Given the description of an element on the screen output the (x, y) to click on. 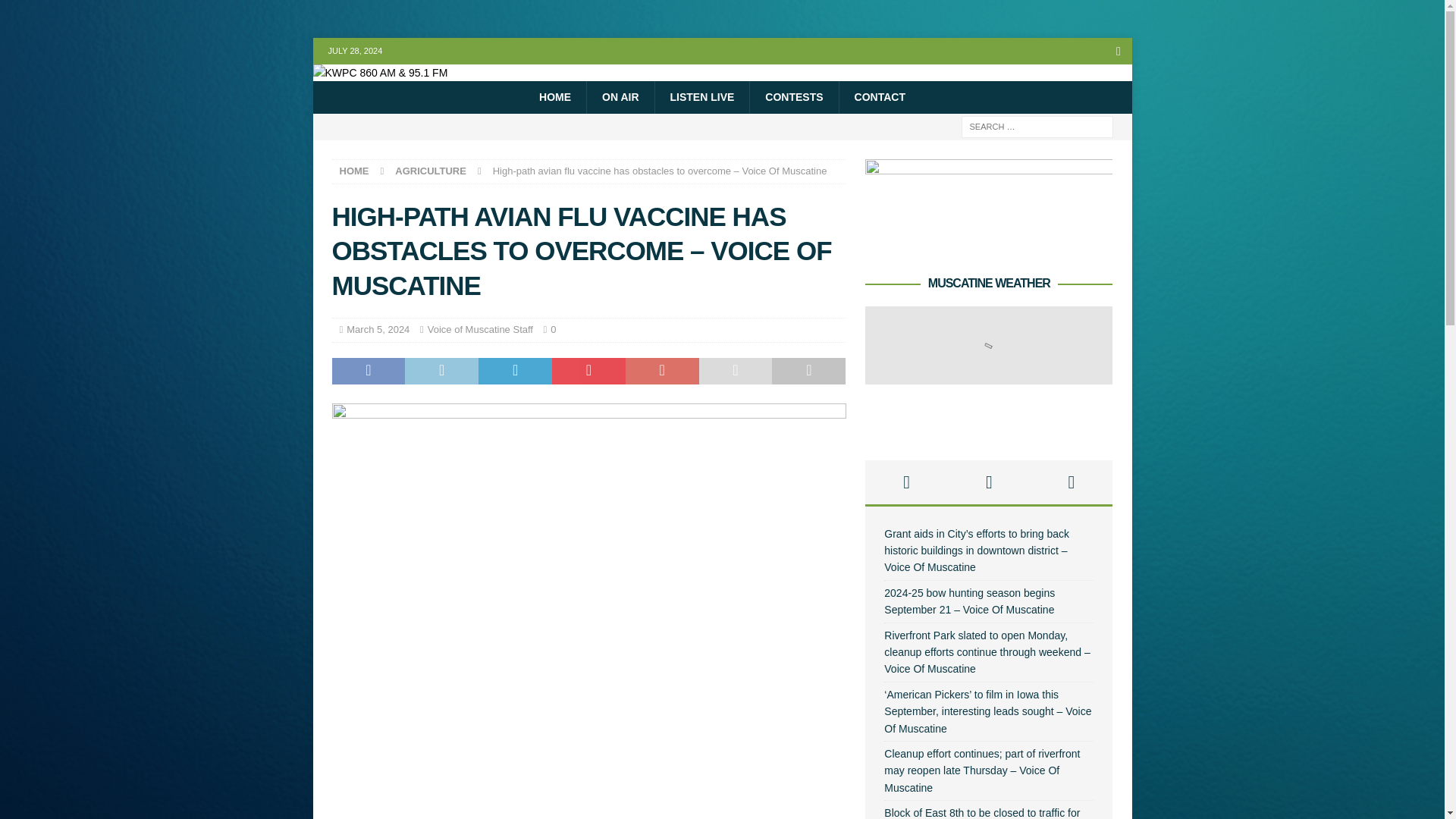
CONTACT (879, 97)
0 (553, 328)
HOME (555, 97)
March 5, 2024 (377, 328)
CONTESTS (793, 97)
LISTEN LIVE (701, 97)
Search (56, 11)
ON AIR (619, 97)
HOME (354, 170)
Voice of Muscatine Staff (480, 328)
AGRICULTURE (429, 170)
